Given the description of an element on the screen output the (x, y) to click on. 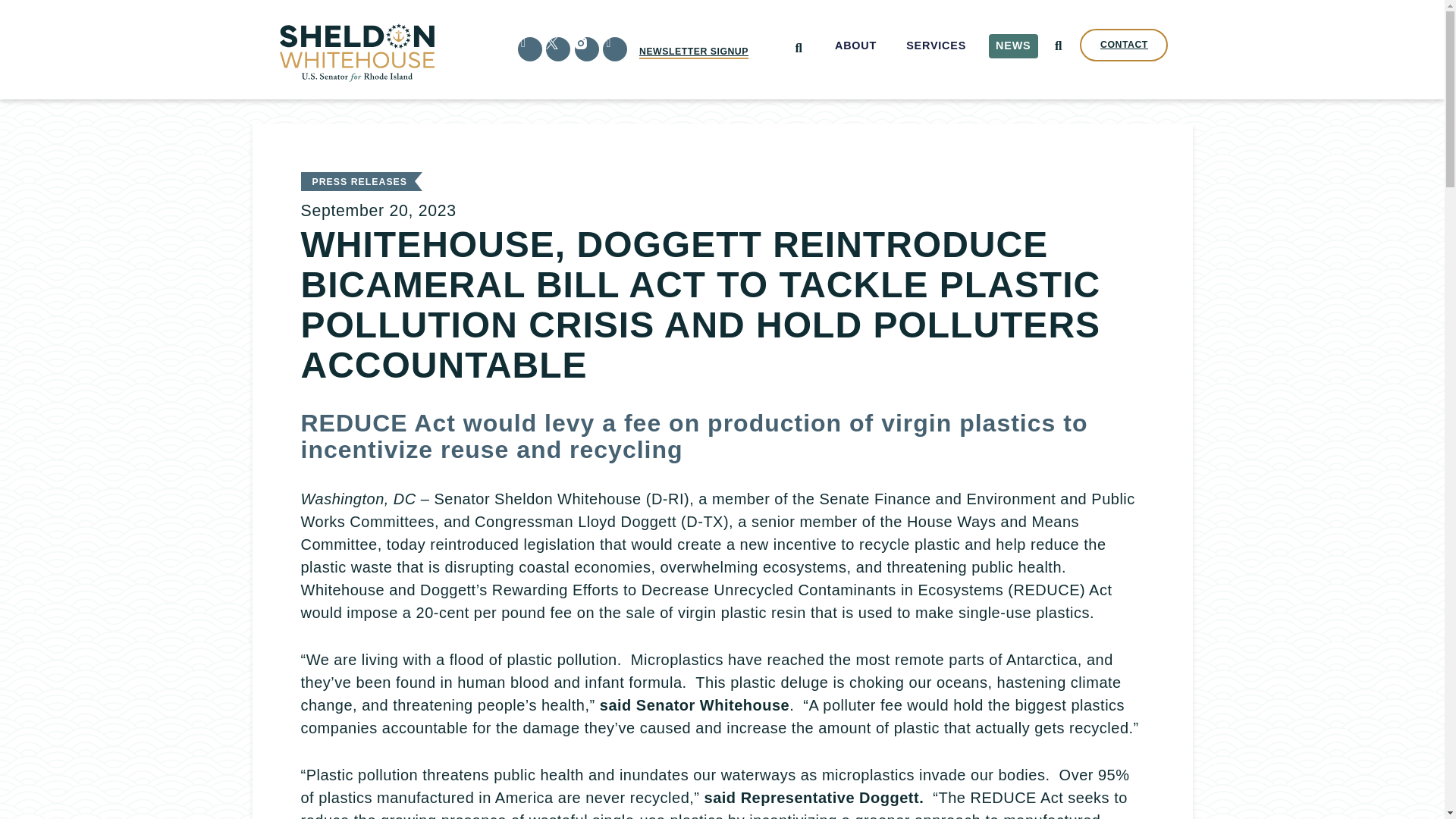
NEWS (1013, 46)
CONTACT (1123, 44)
ABOUT (855, 46)
SERVICES (936, 46)
NEWSLETTER SIGNUP (693, 51)
PRESS RELEASES (360, 181)
